Given the description of an element on the screen output the (x, y) to click on. 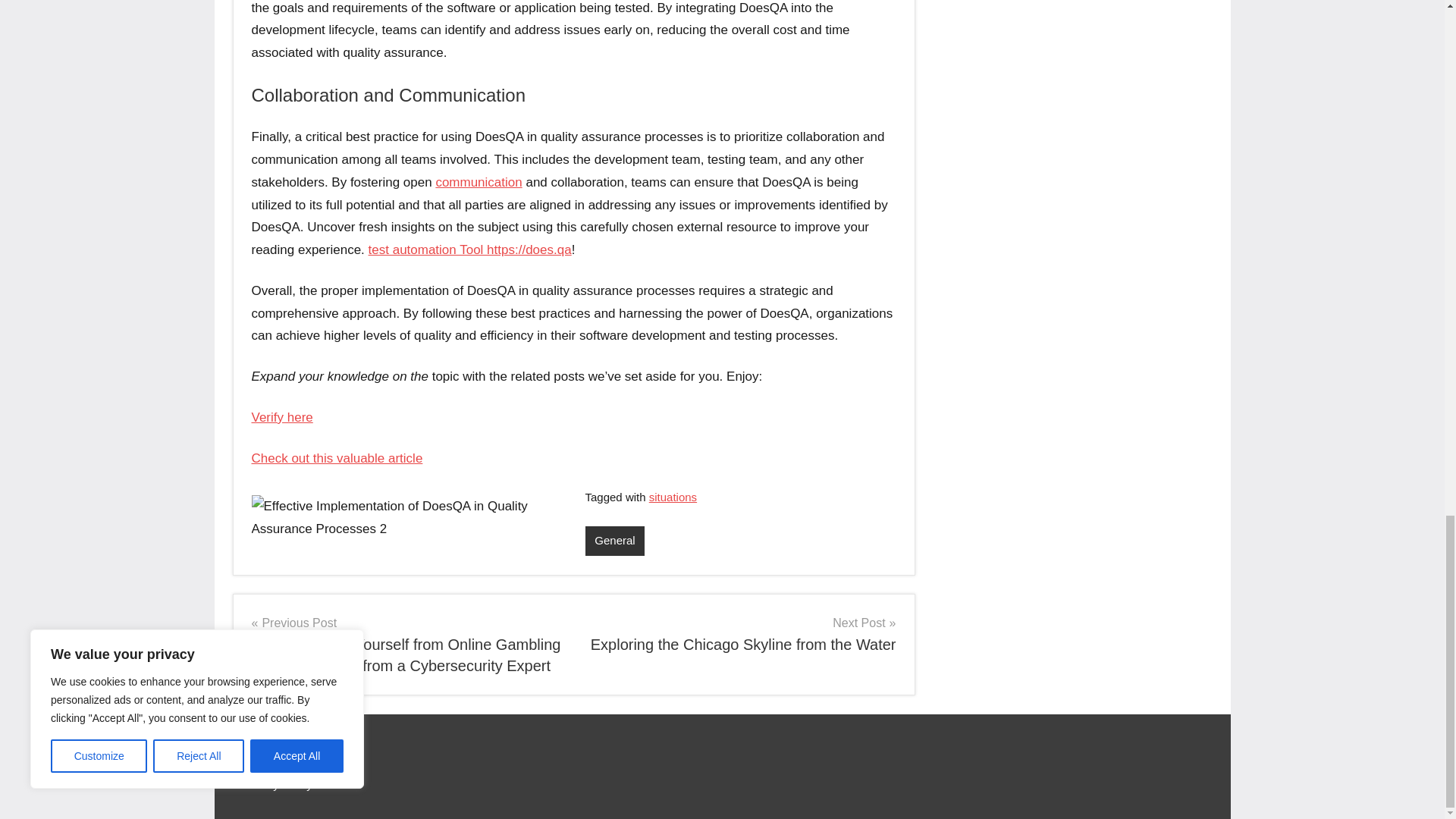
Check out this valuable article (337, 458)
General (615, 541)
communication (478, 182)
situations (673, 496)
Verify here (282, 417)
